Given the description of an element on the screen output the (x, y) to click on. 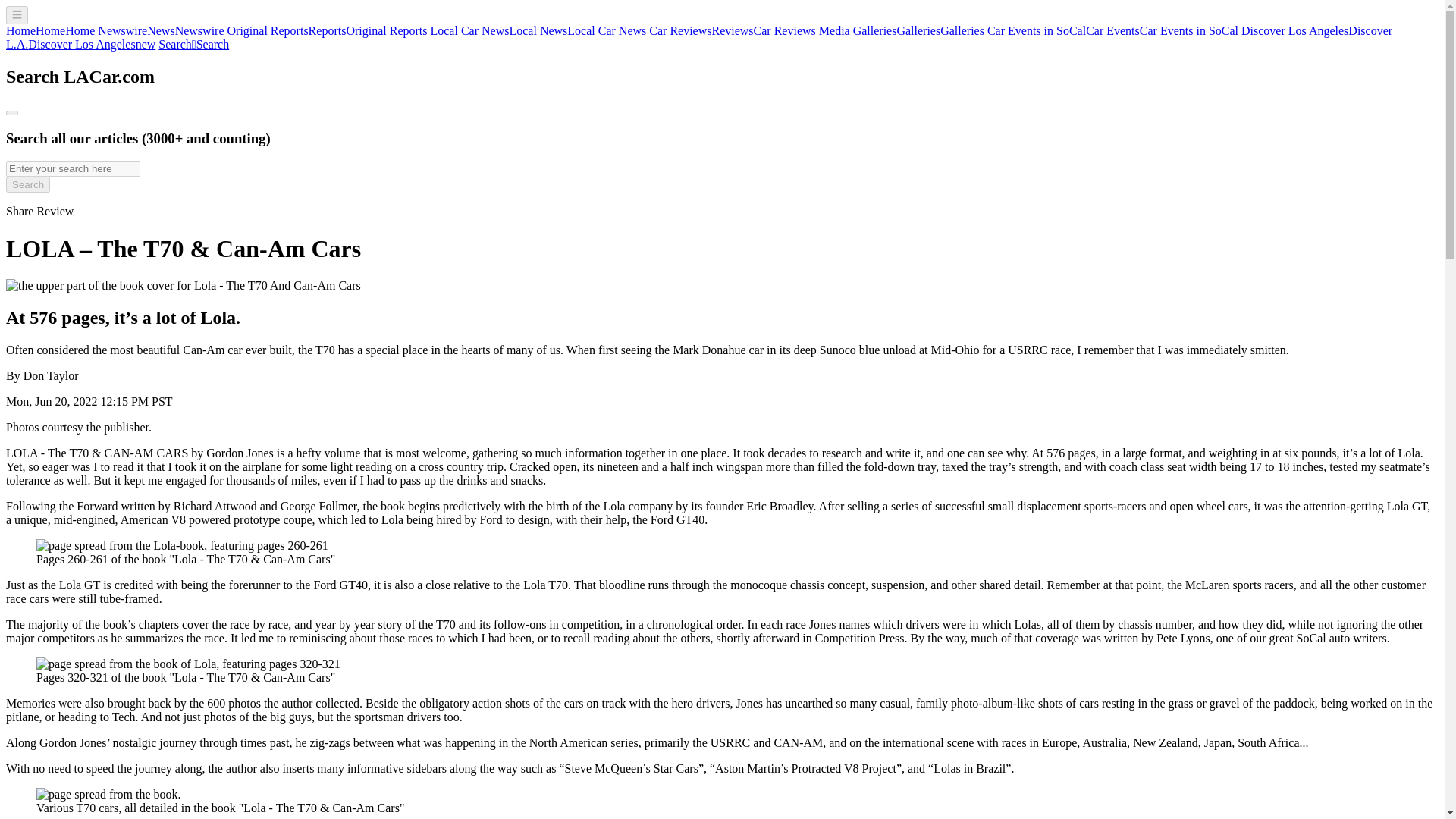
Search (27, 184)
HomeHomeHome (49, 30)
Local Car NewsLocal NewsLocal Car News (537, 30)
Original ReportsReportsOriginal Reports (327, 30)
Car Events in SoCalCar EventsCar Events in SoCal (1113, 30)
Media GalleriesGalleriesGalleries (901, 30)
Car ReviewsReviewsCar Reviews (732, 30)
NewswireNewsNewswire (160, 30)
Discover Los AngelesDiscover L.A.Discover Los Angelesnew (698, 37)
